Given the description of an element on the screen output the (x, y) to click on. 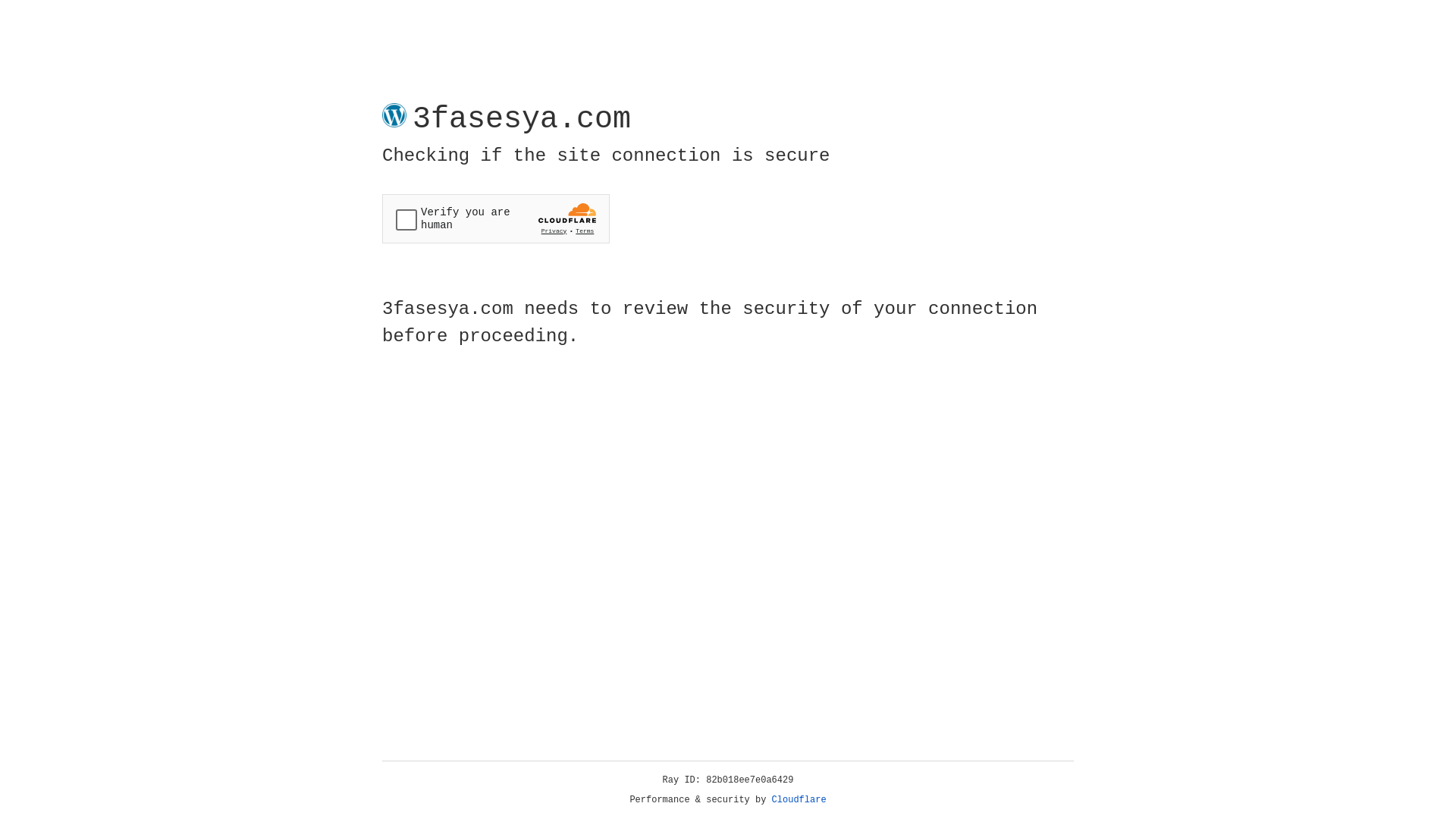
Widget containing a Cloudflare security challenge Element type: hover (495, 218)
Cloudflare Element type: text (798, 799)
